Given the description of an element on the screen output the (x, y) to click on. 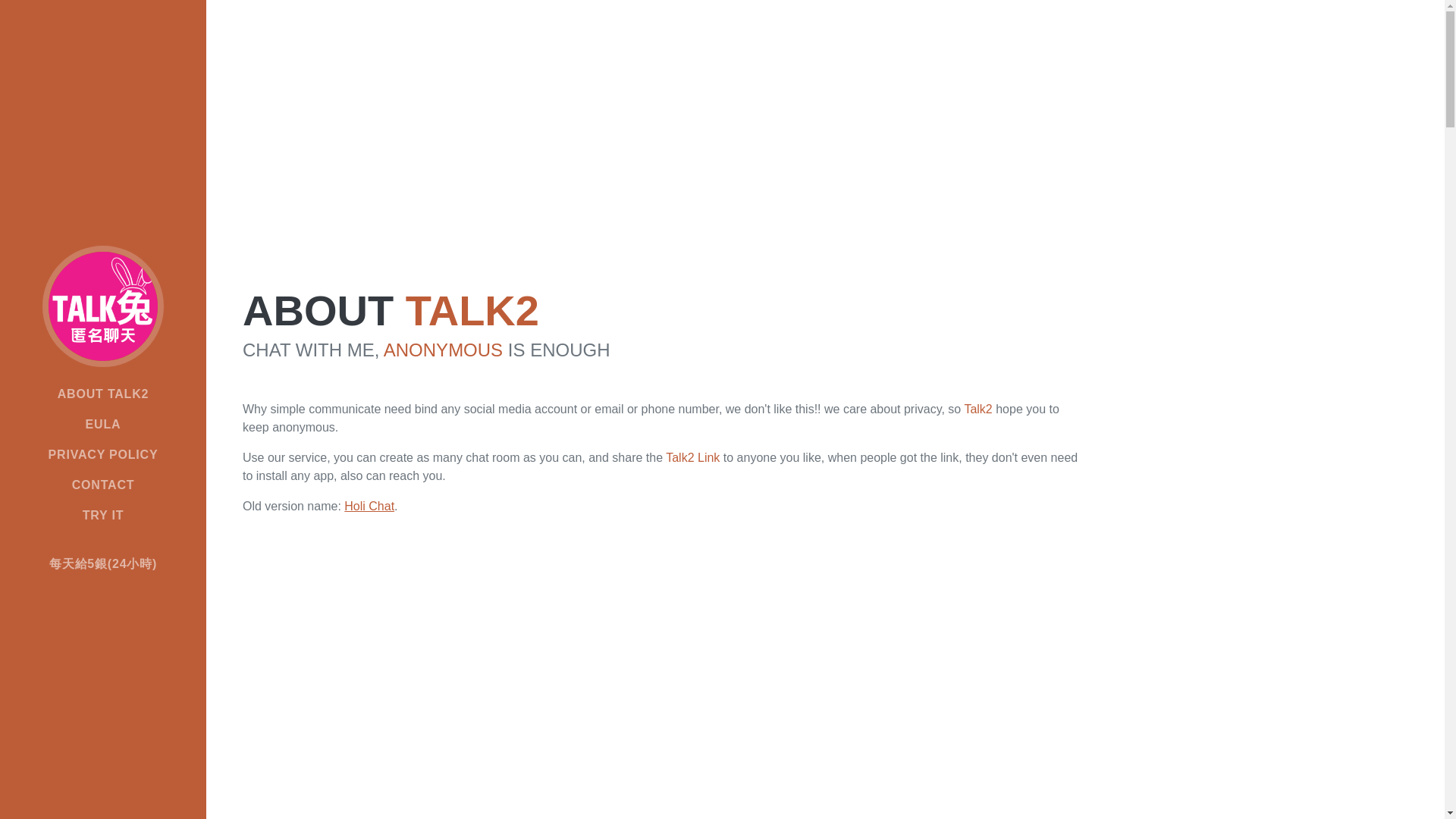
EULA (103, 424)
ABOUT TALK2 (103, 394)
CONTACT (103, 485)
Holi Chat (368, 505)
PRIVACY POLICY (103, 454)
TRY IT (103, 515)
EULA (103, 424)
ABOUT TALK2 (103, 394)
PRIVACY POLICY (103, 454)
CONTACT (103, 485)
TRY IT (103, 515)
